Given the description of an element on the screen output the (x, y) to click on. 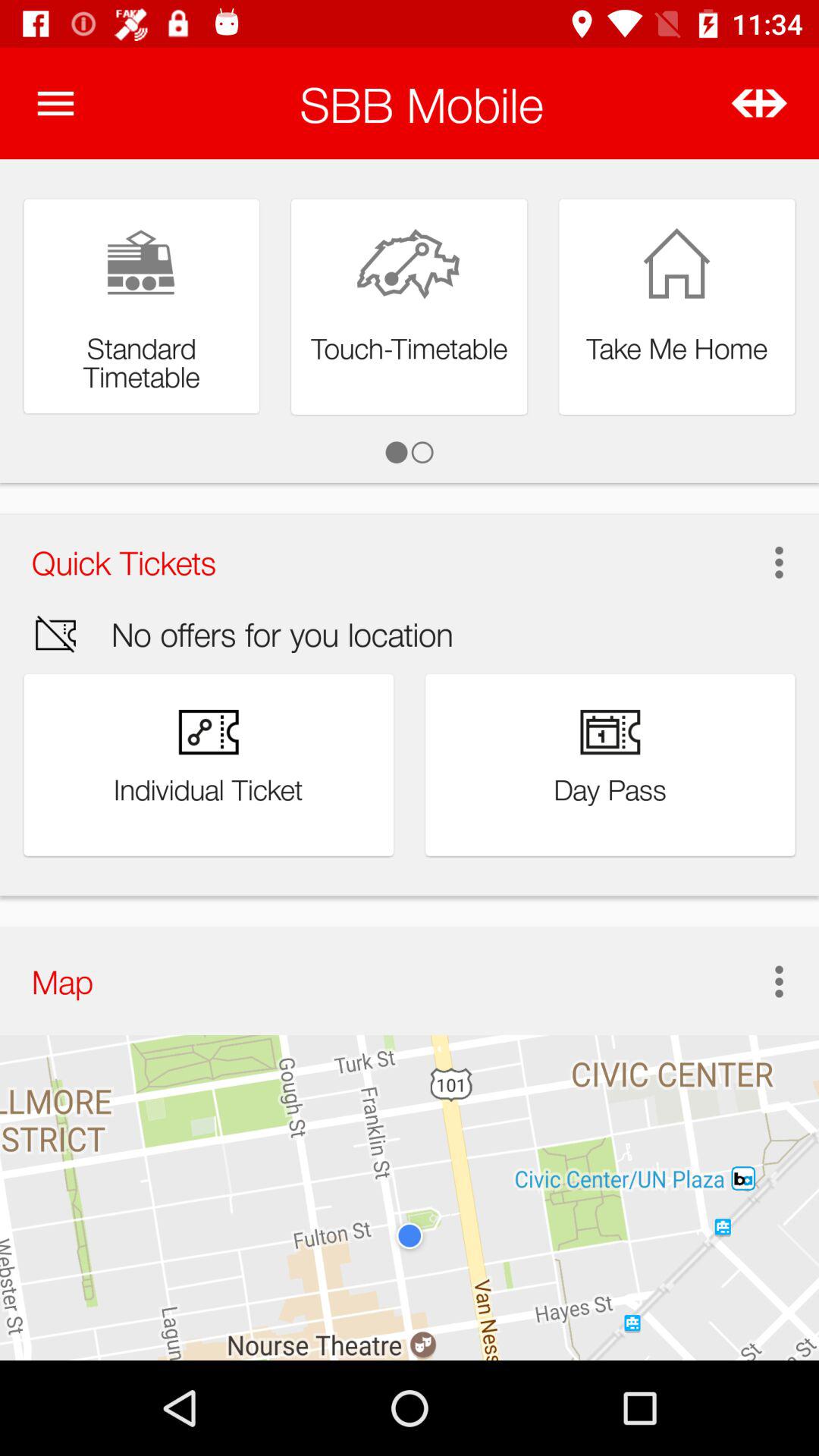
turn on icon below map (409, 1197)
